Given the description of an element on the screen output the (x, y) to click on. 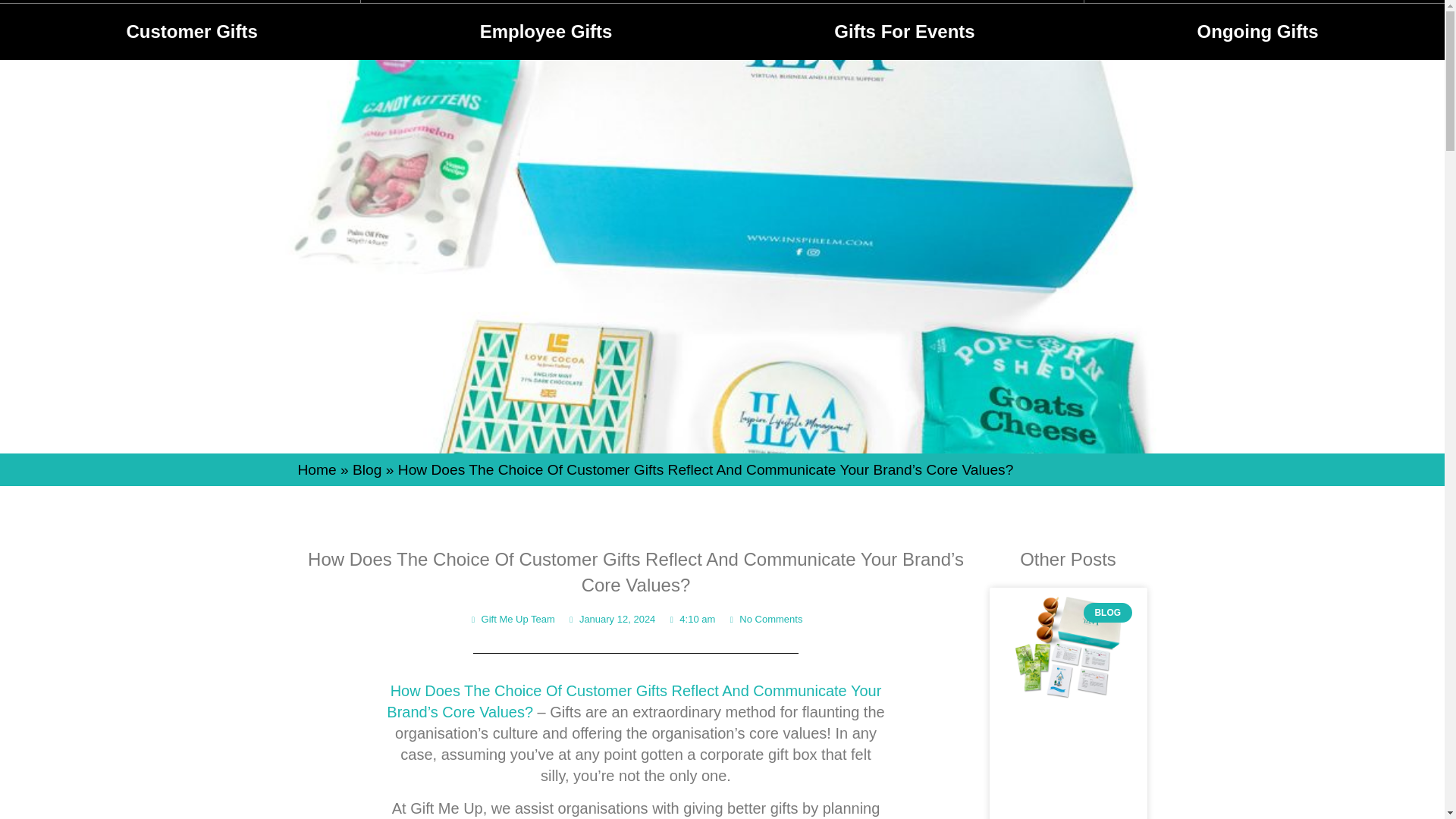
Gifts For Events (664, 29)
Employee Gifts (497, 29)
Ongoing Gifts (826, 29)
Ongoing Gifts (1257, 31)
Customer Gifts (335, 29)
Employee Gifts (545, 31)
Customer Gifts (191, 31)
Gifts For Events (904, 31)
